Given the description of an element on the screen output the (x, y) to click on. 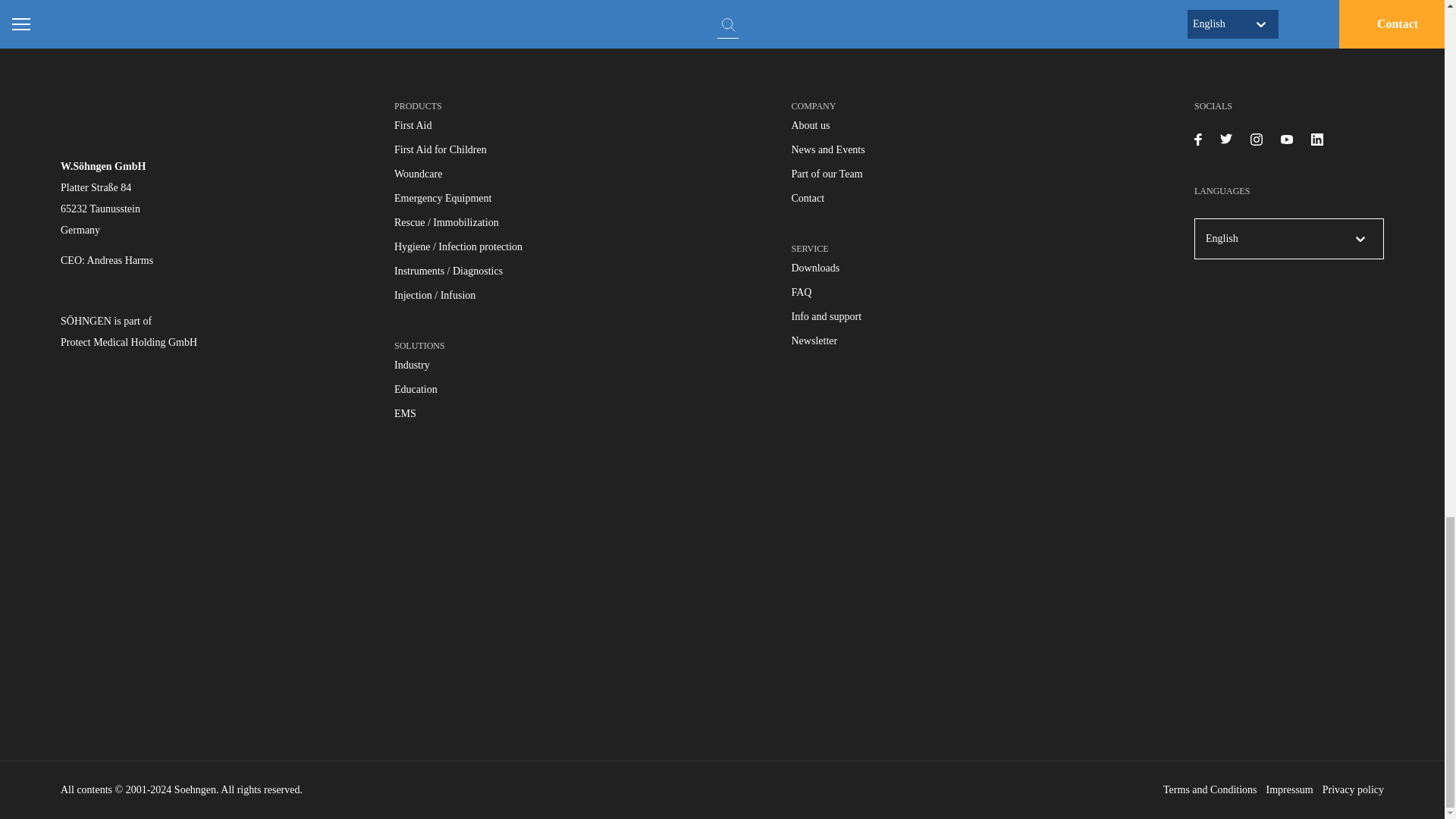
Emergency Equipment (443, 197)
Downloads (816, 267)
Contact (808, 197)
Industry Administration (411, 365)
About us (810, 125)
Info and support (826, 316)
Education (416, 389)
Industry (411, 365)
First Aid for Children (440, 149)
Woundcare (418, 173)
Newsletter (815, 340)
Emergency Equipment (443, 197)
News and Events (828, 149)
FAQ (802, 292)
First Aid (412, 125)
